Given the description of an element on the screen output the (x, y) to click on. 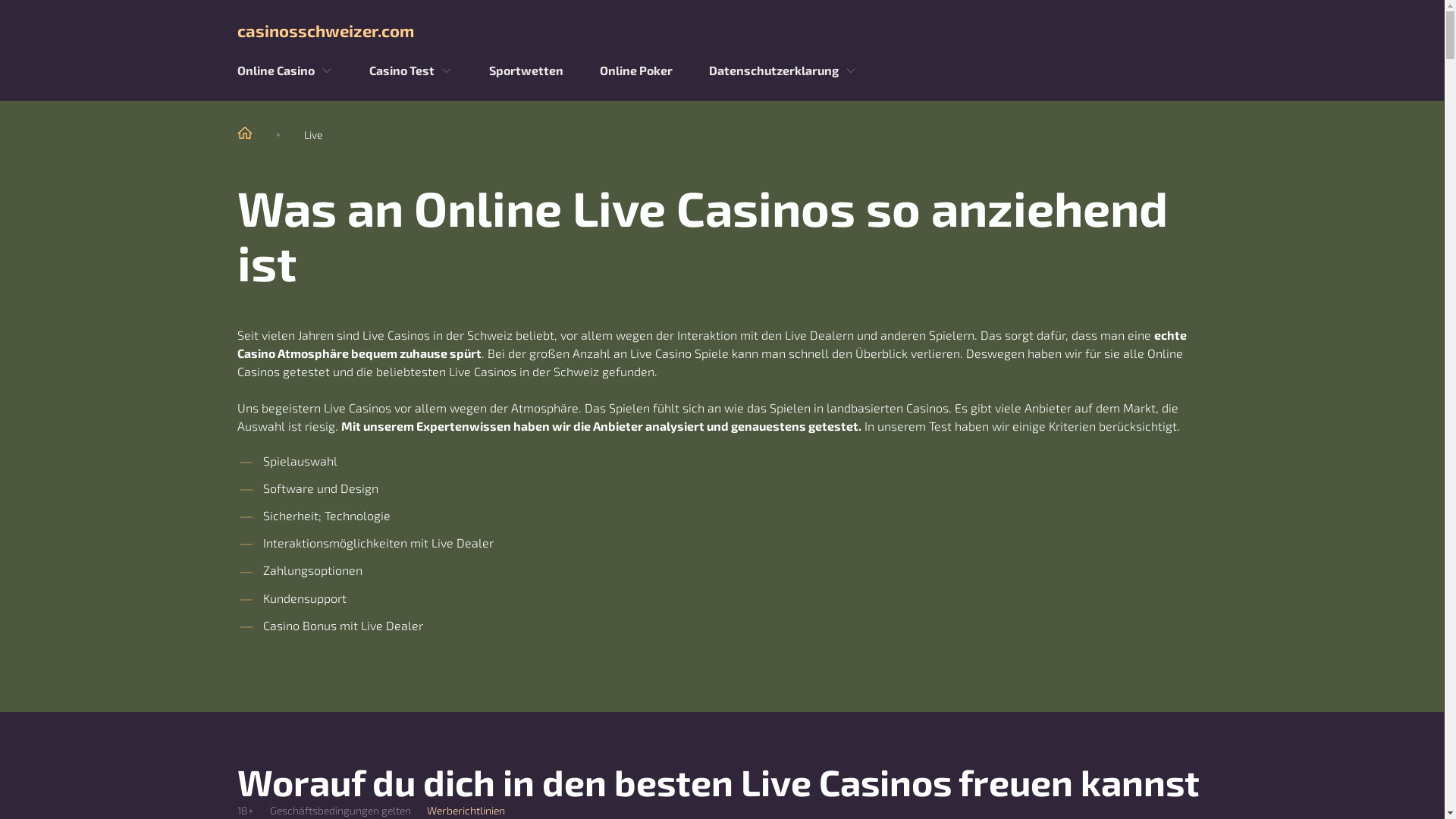
Datenschutzerklarung Element type: text (772, 70)
casinosschweizer.com Element type: text (721, 29)
Casino Test Element type: text (400, 70)
Sportwetten Element type: text (525, 70)
Online Poker Element type: text (635, 70)
Werberichtlinien Element type: text (465, 810)
Online Casino Element type: text (274, 70)
